Given the description of an element on the screen output the (x, y) to click on. 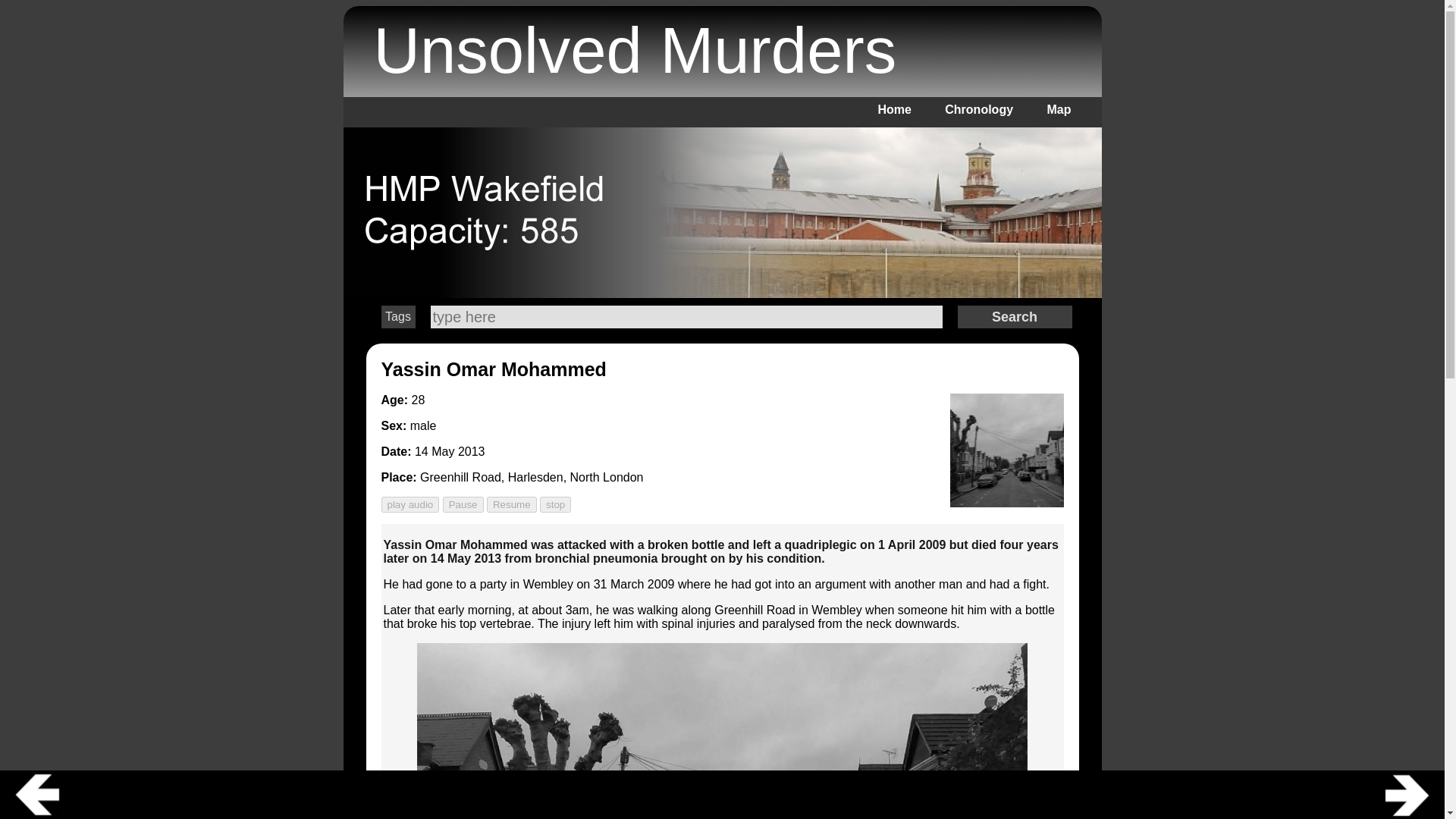
2013 (471, 451)
Chronology (978, 109)
Search (686, 316)
Resume (511, 504)
Yassin Omar Mohammed (492, 369)
Pause (462, 504)
Home (894, 109)
play audio (409, 504)
Google For Yassin Omar Mohammed Murder (492, 369)
Search (1013, 316)
Tags (397, 316)
Greenhill Road, Harlesden, North London (531, 477)
Search (1013, 316)
stop (555, 504)
Map (1058, 109)
